Given the description of an element on the screen output the (x, y) to click on. 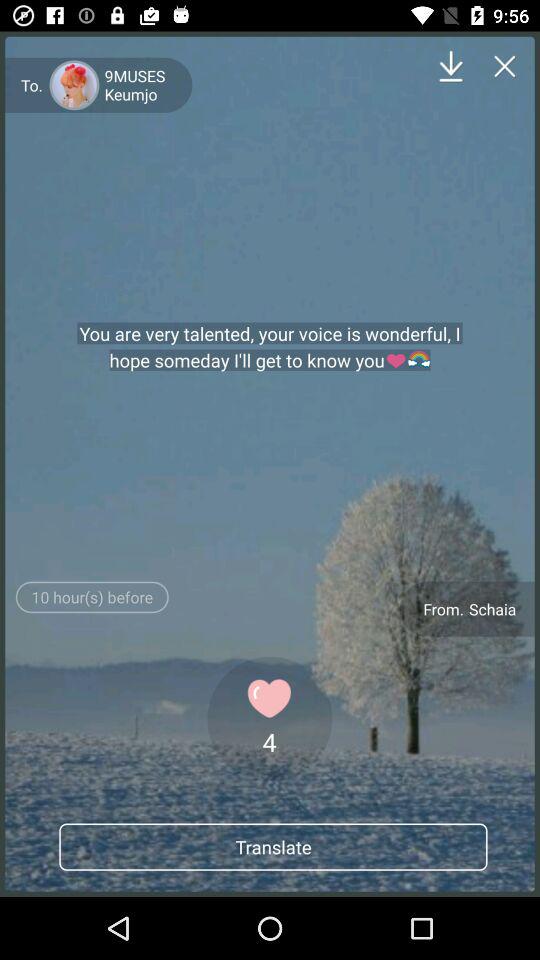
close page (504, 66)
